Given the description of an element on the screen output the (x, y) to click on. 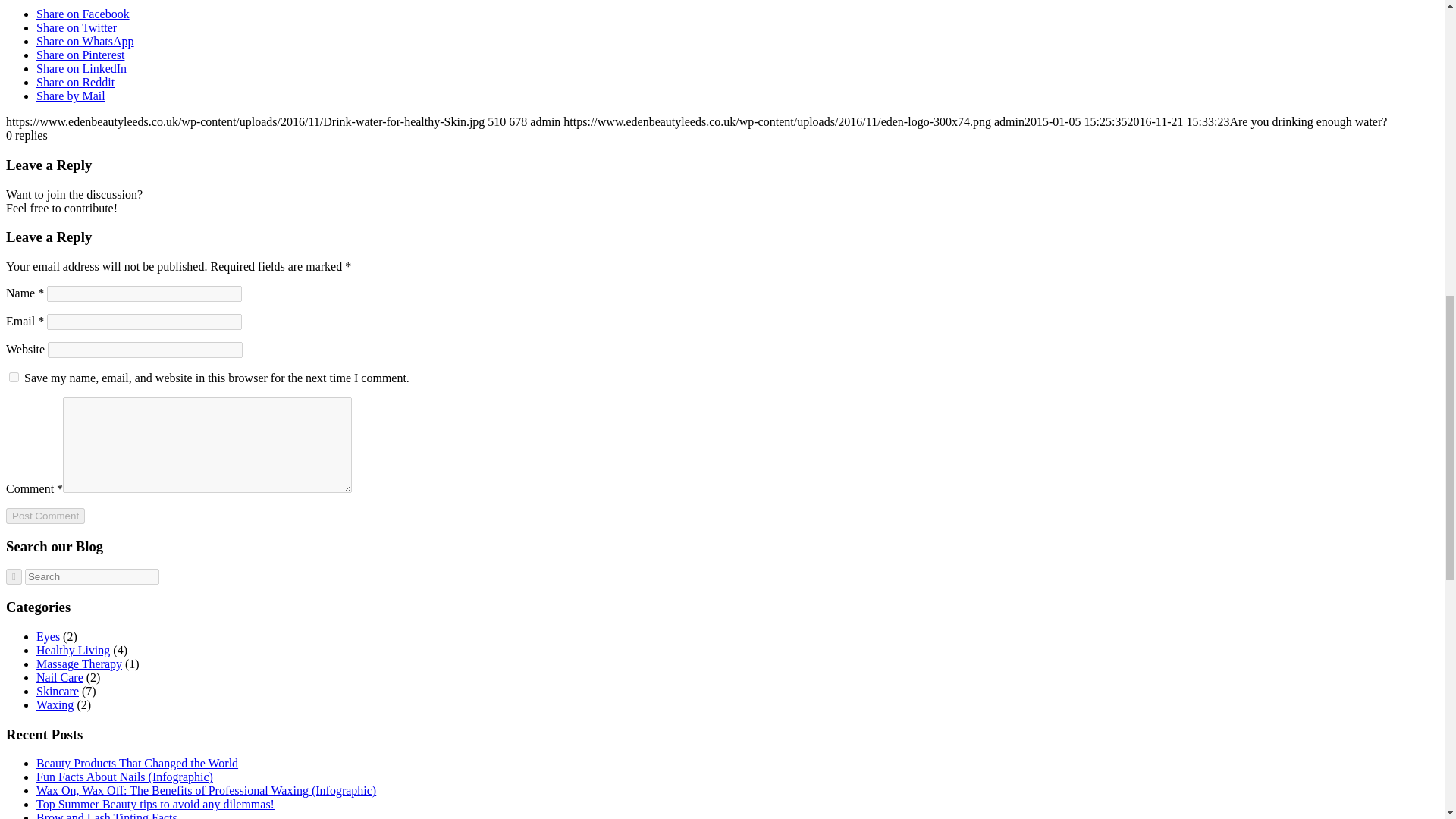
Beauty Products That Changed the World (137, 762)
Healthy Living (73, 649)
Waxing (55, 704)
Massage Therapy (79, 663)
yes (13, 377)
Post Comment (44, 515)
Share on Twitter (76, 27)
Share on Pinterest (79, 54)
Skincare (57, 690)
Share on LinkedIn (81, 68)
